Given the description of an element on the screen output the (x, y) to click on. 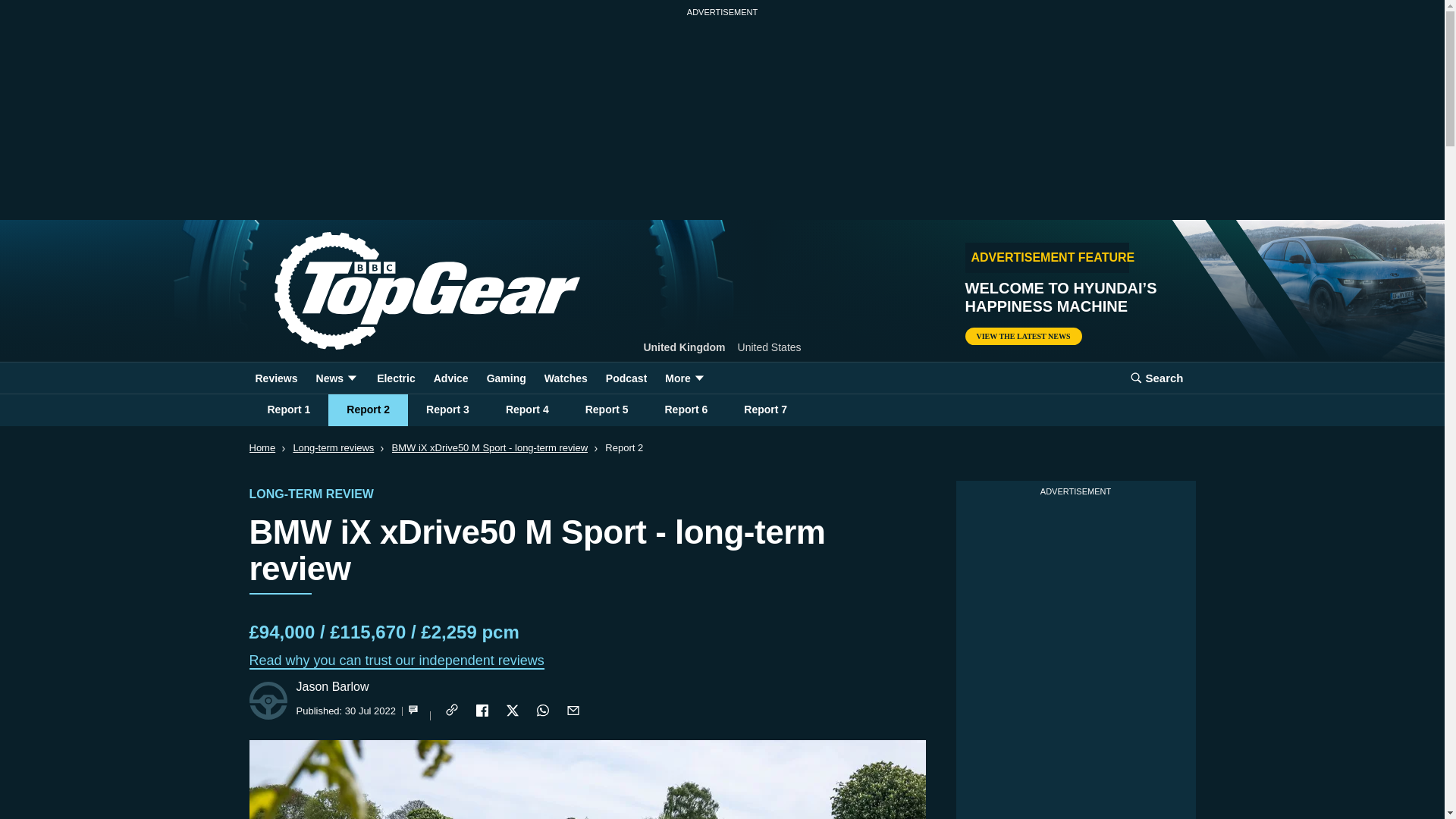
Search (1156, 377)
Podcast (625, 377)
Report 3 (447, 409)
Electric (396, 377)
VIEW THE LATEST NEWS (1022, 335)
United Kingdom (684, 347)
Report 1 (288, 409)
United States (770, 347)
Report 4 (527, 409)
News (337, 377)
